Given the description of an element on the screen output the (x, y) to click on. 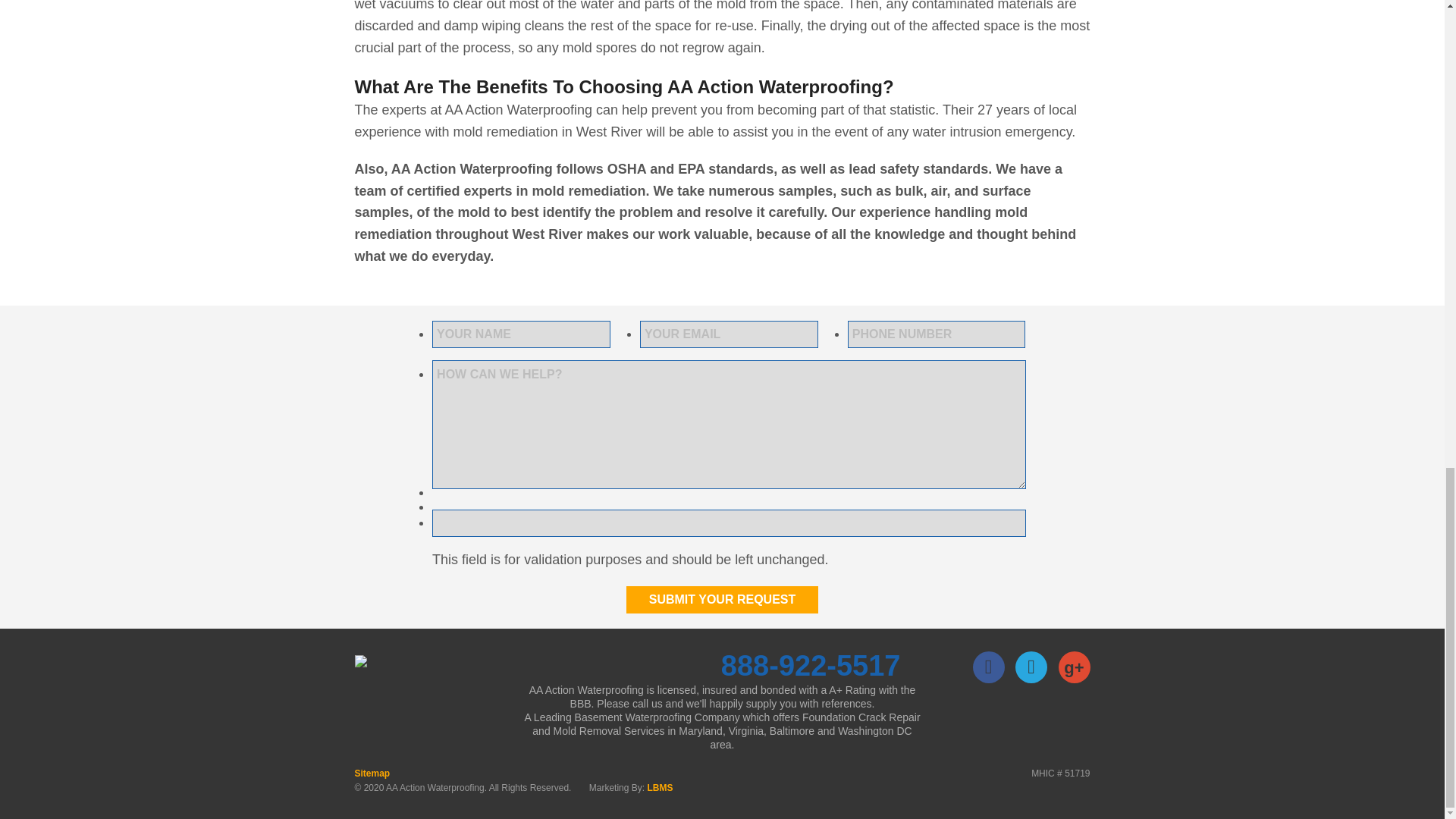
LBMS (659, 787)
Submit your request (722, 599)
Sitemap (372, 773)
Submit your request (722, 599)
888-922-5517 (810, 665)
